Given the description of an element on the screen output the (x, y) to click on. 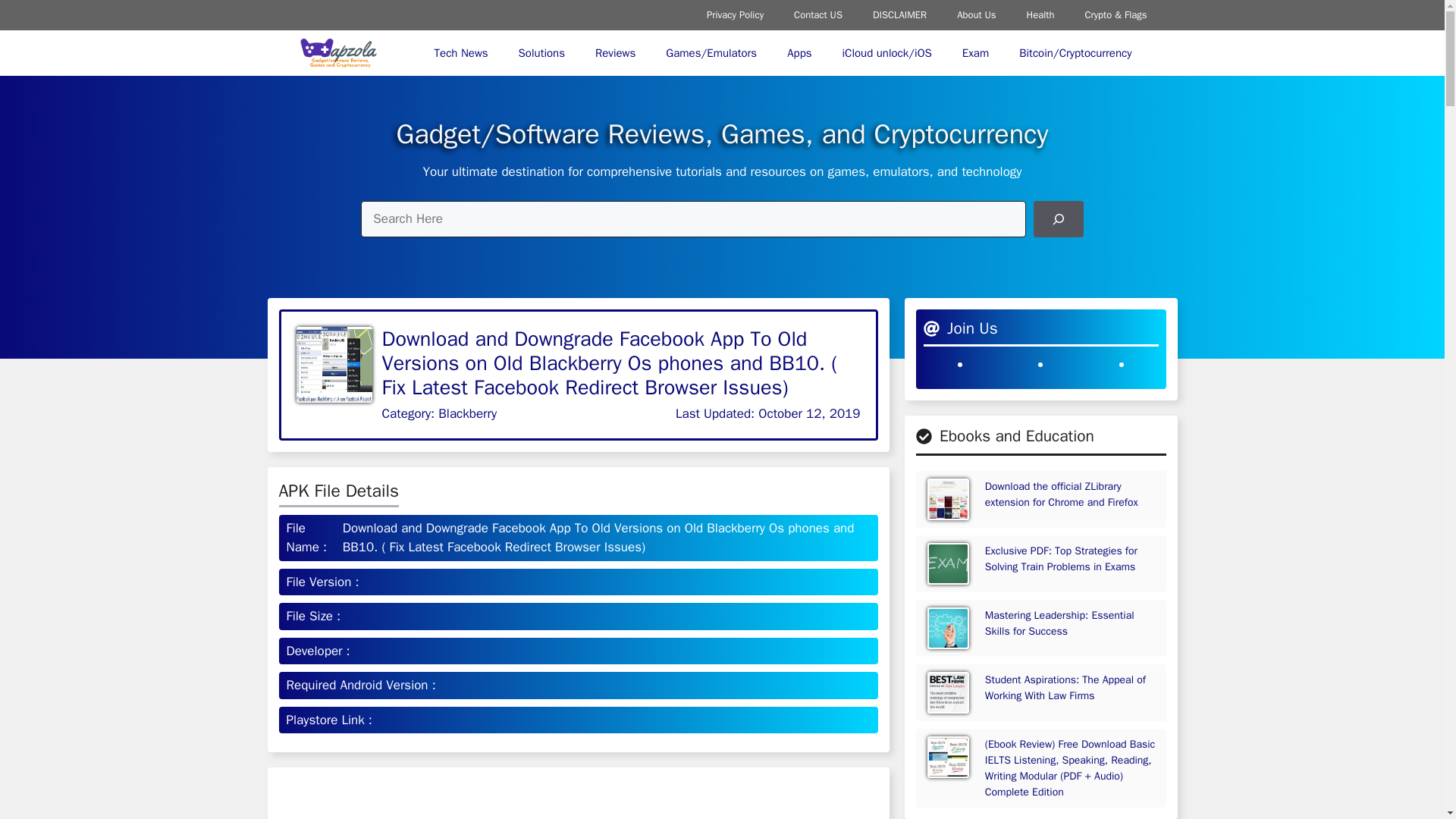
Contact US (817, 15)
Health (1040, 15)
DISCLAIMER (899, 15)
Privacy Policy (734, 15)
Reviews (614, 53)
Apps (799, 53)
Wapzola (337, 53)
Solutions (541, 53)
Tech News (461, 53)
About Us (976, 15)
Exam (975, 53)
